Given the description of an element on the screen output the (x, y) to click on. 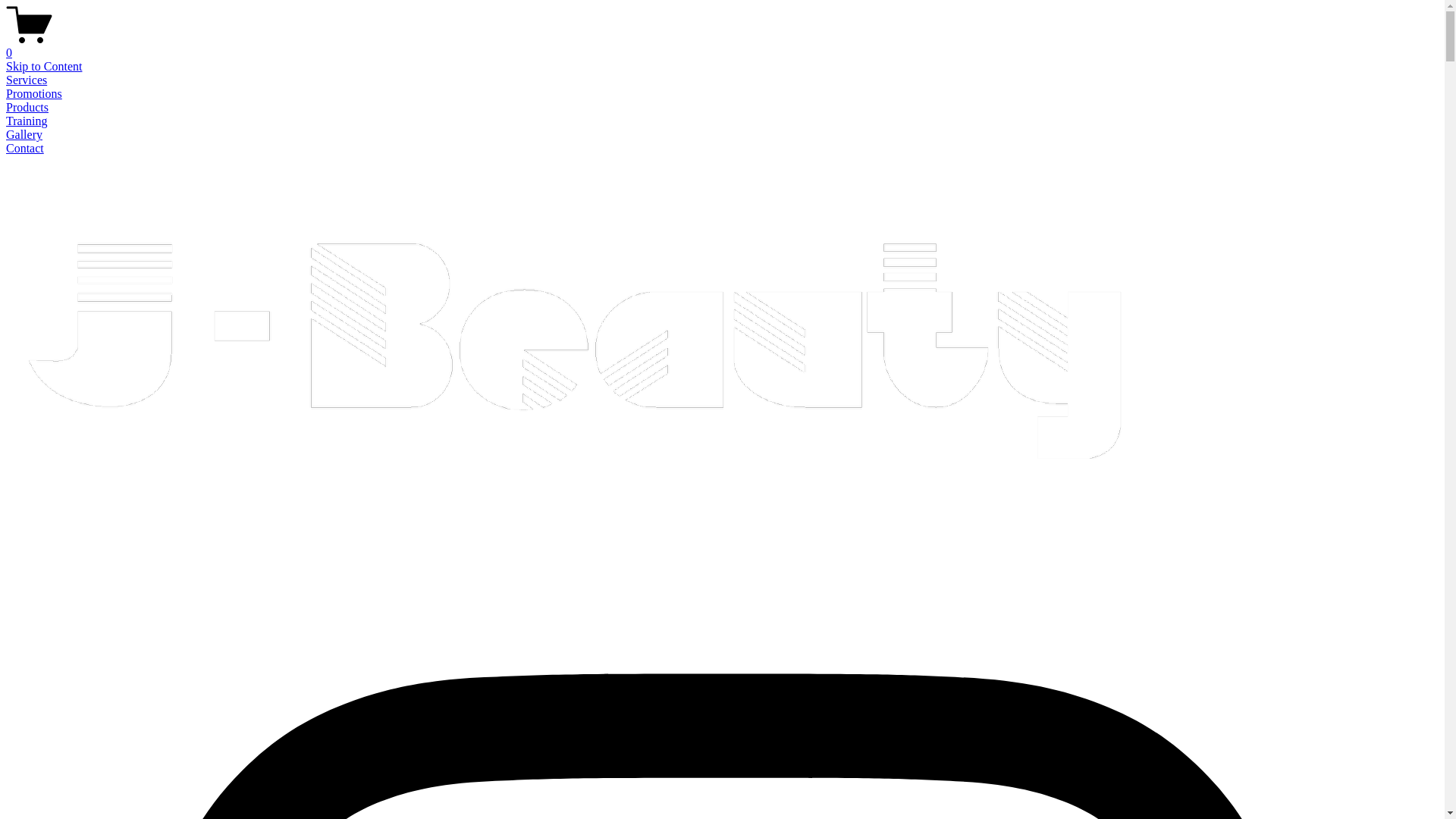
0 Element type: text (722, 45)
Promotions Element type: text (34, 93)
Services Element type: text (26, 79)
Skip to Content Element type: text (43, 65)
Training Element type: text (26, 120)
Contact Element type: text (24, 147)
Gallery Element type: text (24, 134)
Products Element type: text (27, 106)
